Given the description of an element on the screen output the (x, y) to click on. 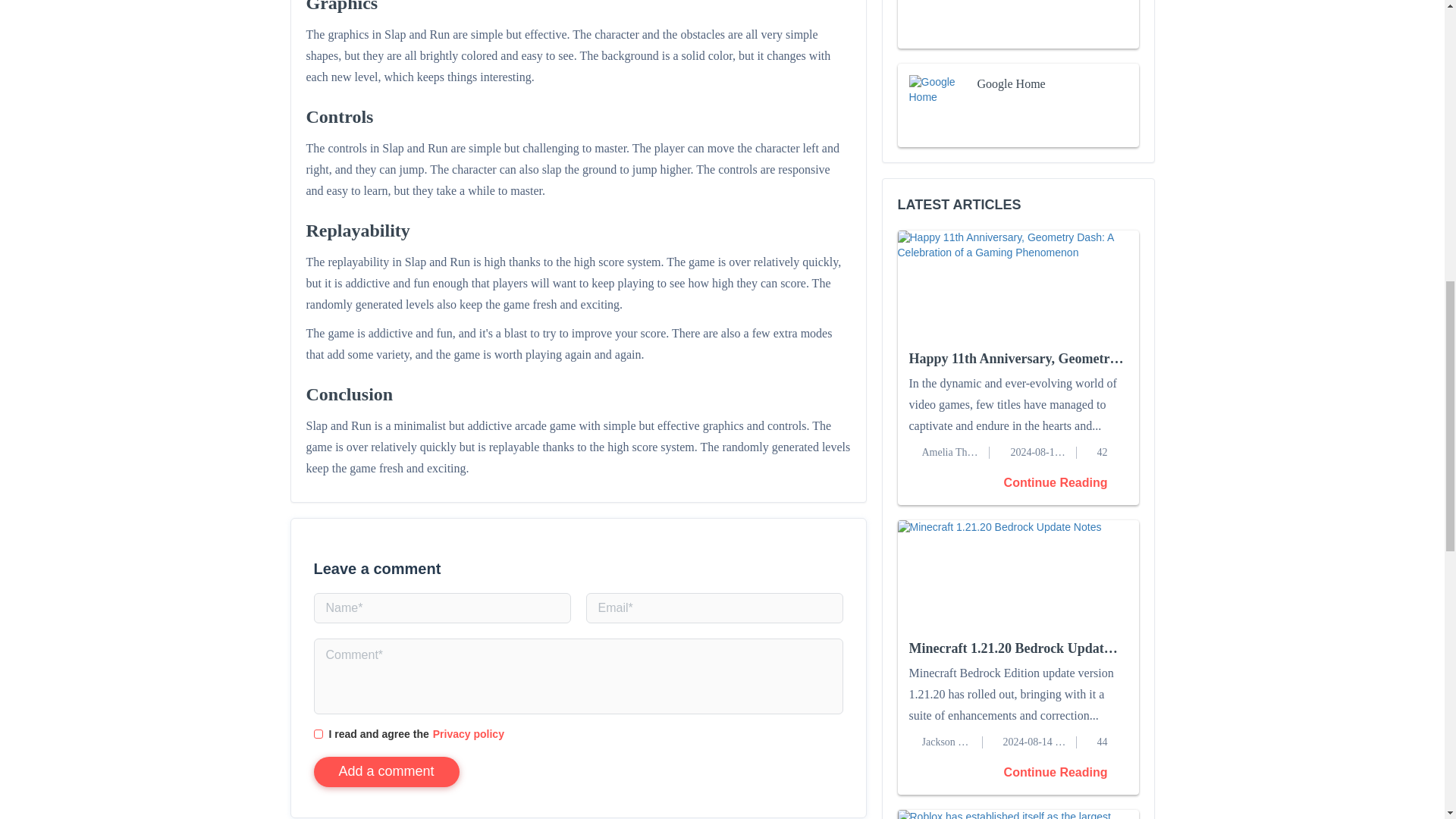
Add a comment (387, 771)
User rating 4 (1009, 104)
Privacy policy (467, 734)
Google Home (1018, 105)
User rating 4.4 (1009, 6)
Roblox (1018, 24)
